Given the description of an element on the screen output the (x, y) to click on. 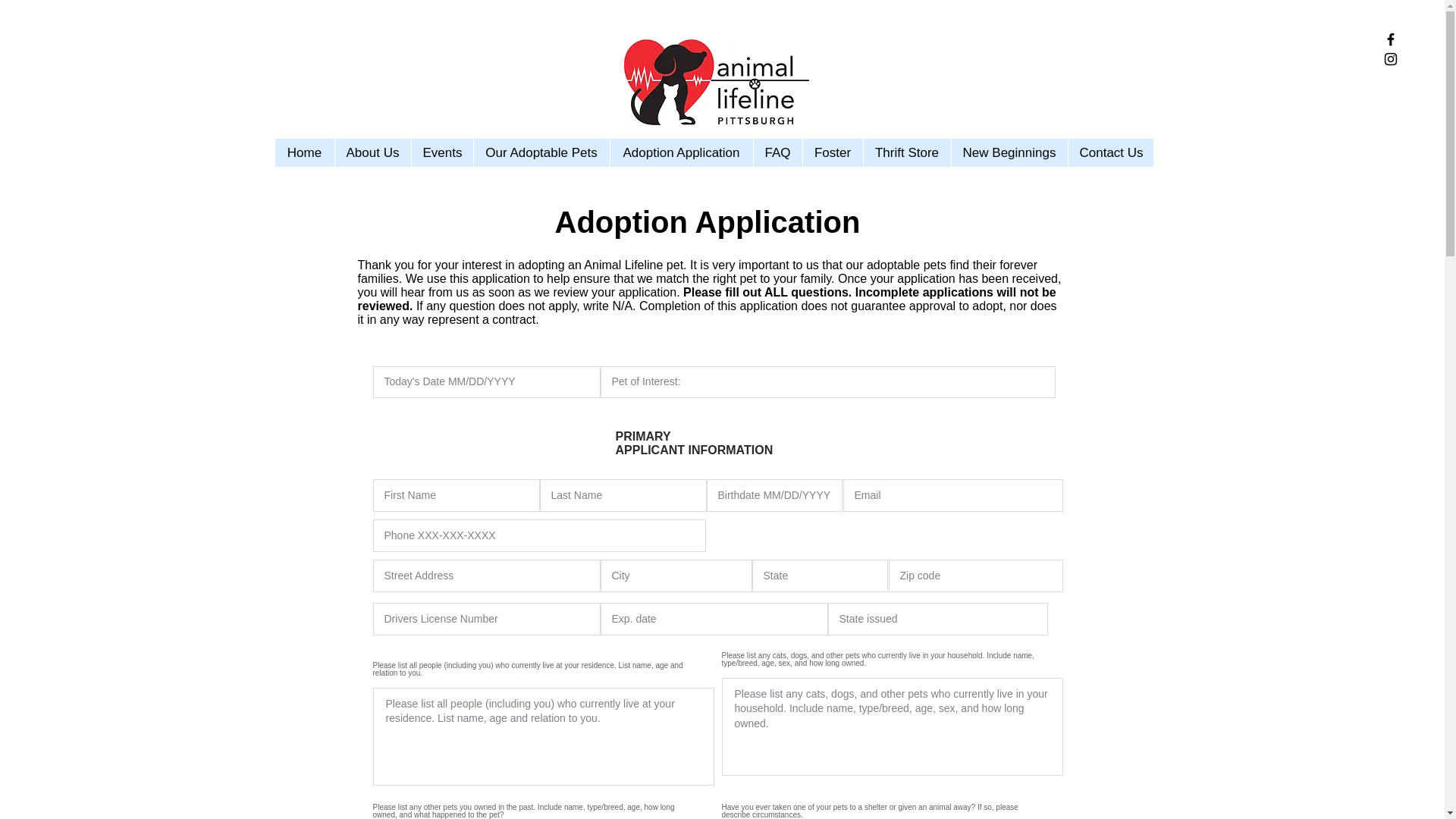
Our Adoptable Pets (541, 152)
FAQ (777, 152)
Thrift Store (906, 152)
Events (441, 152)
Foster (832, 152)
Adoption Application (681, 152)
Home (304, 152)
About Us (371, 152)
Contact Us (1110, 152)
New Beginnings (1008, 152)
